Given the description of an element on the screen output the (x, y) to click on. 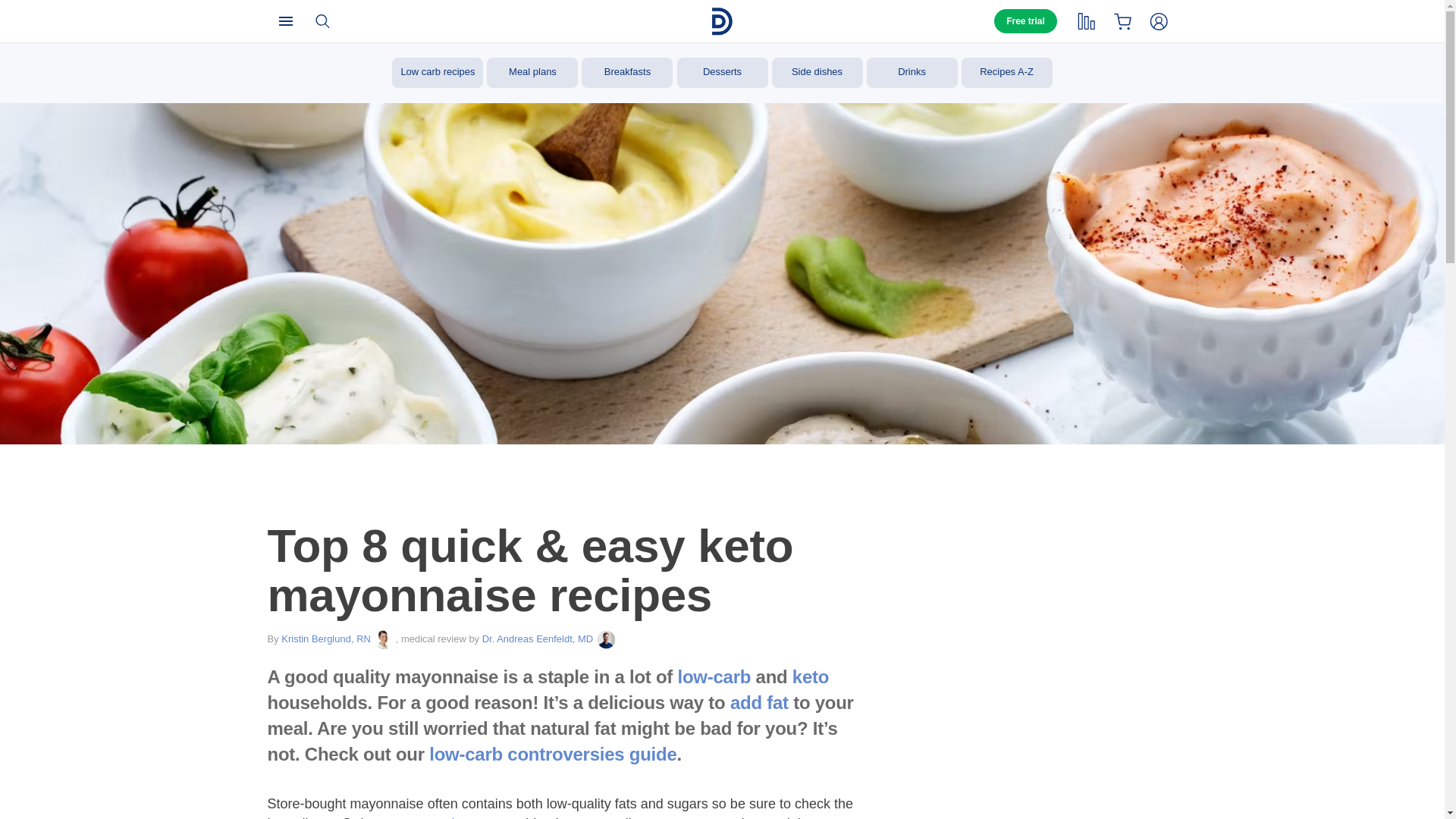
Search (320, 20)
Free trial (1025, 21)
Free trial (1025, 21)
Menu (284, 20)
Shopping List (1121, 20)
Login (1157, 20)
My tracking (1085, 20)
Home page (721, 21)
